Given the description of an element on the screen output the (x, y) to click on. 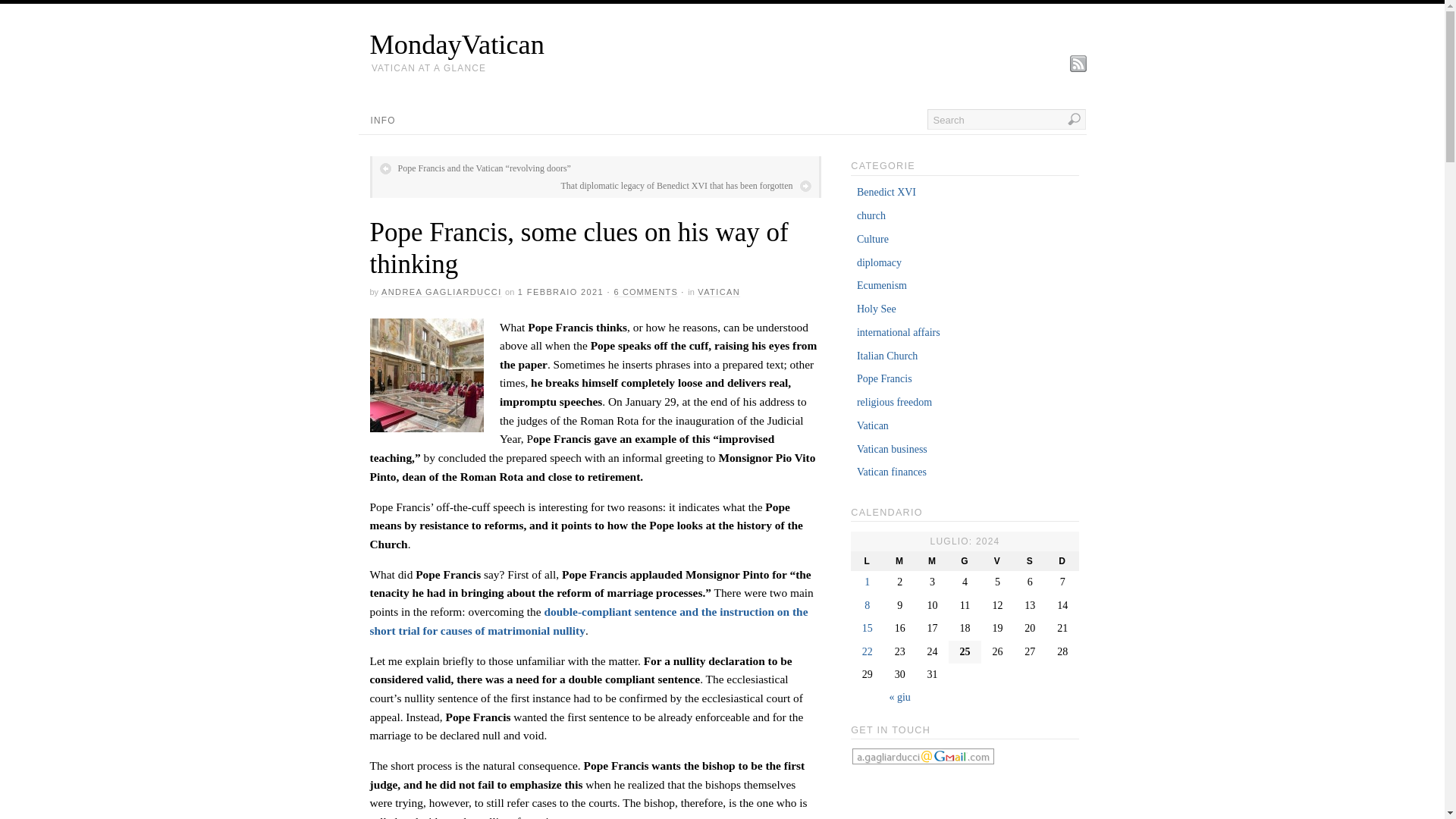
Culture (872, 238)
Holy See (876, 308)
6 COMMENTS (646, 292)
diplomacy (879, 262)
international affairs (898, 332)
church (871, 215)
Search (1005, 118)
Benedict XVI (886, 192)
religious freedom (894, 401)
ANDREA GAGLIARDUCCI (441, 292)
Pope Francis (884, 378)
Visualizza tutti gli articoli archiviati in Culture (872, 238)
cq5dam-thumbnail-cropped-750-422 (426, 375)
